Given the description of an element on the screen output the (x, y) to click on. 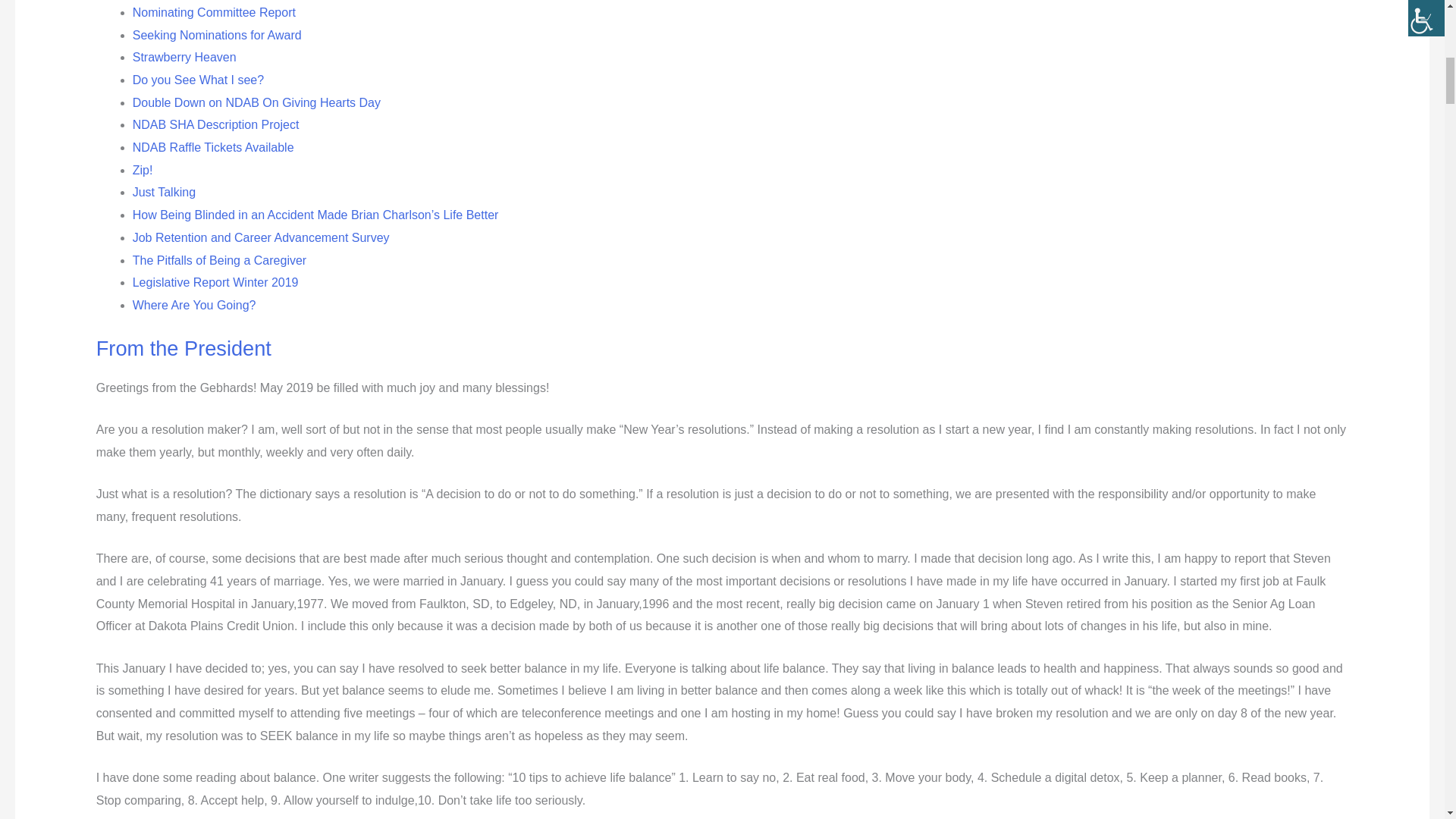
Do you See What I see? (197, 79)
Just Talking (163, 192)
Double Down on NDAB On Giving Hearts Day (256, 102)
NDAB SHA Description Project (215, 124)
Strawberry Heaven (183, 56)
NDAB Raffle Tickets Available (213, 146)
Nominating Committee Report (213, 11)
Seeking Nominations for Award (216, 34)
Zip! (142, 169)
